Given the description of an element on the screen output the (x, y) to click on. 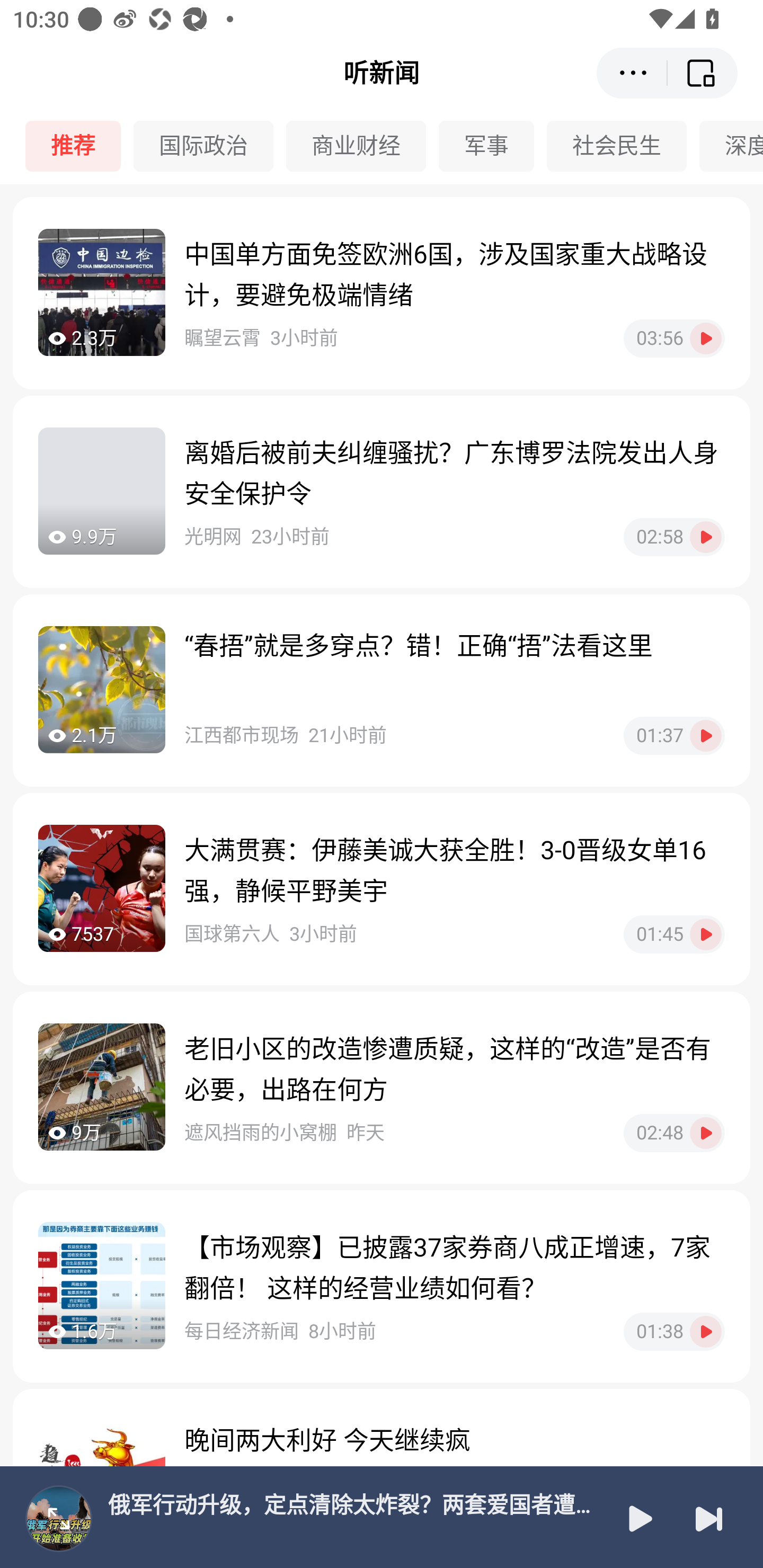
更多 (631, 72)
返回 (702, 72)
推荐 (79, 146)
国际政治 (209, 146)
商业财经 (362, 146)
军事 (492, 146)
社会民生 (623, 146)
2.3万 中国单方面免签欧洲6国，涉及国家重大战略设计，要避免极端情绪 瞩望云霄3小时前 03:56 (381, 292)
03:56 (673, 338)
9.9万 离婚后被前夫纠缠骚扰？广东博罗法院发出人身安全保护令 光明网23小时前 02:58 (381, 491)
02:58 (673, 536)
2.1万 “春捂”就是多穿点？错！正确“捂”法看这里 江西都市现场21小时前 01:37 (381, 690)
01:37 (673, 735)
01:45 (673, 934)
9万 老旧小区的改造惨遭质疑，这样的“改造”是否有必要，出路在何方 遮风挡雨的小窝棚昨天 02:48 (381, 1086)
02:48 (673, 1132)
01:38 (673, 1331)
15.4万 晚间两大利好 今天继续疯 趋势巡航V11小时前 04:05 (381, 1478)
音频播放页 俄军行动升级，定点清除太炸裂？两套爱国者遭摧毁，战局急转直下 播放 下一篇 (381, 1517)
播放 (638, 1518)
下一篇 (708, 1518)
